Given the description of an element on the screen output the (x, y) to click on. 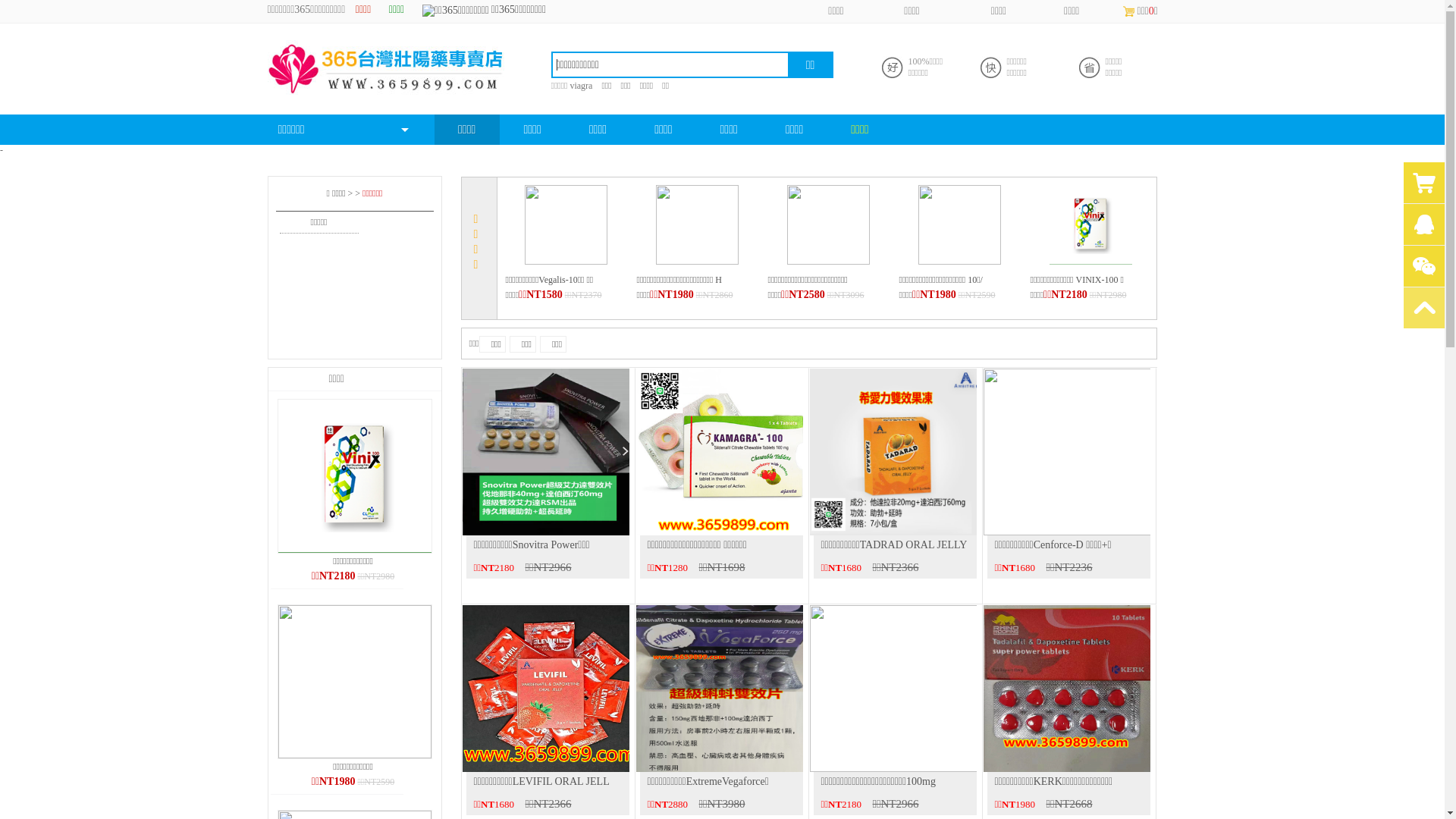
viagra Element type: text (580, 85)
